Given the description of an element on the screen output the (x, y) to click on. 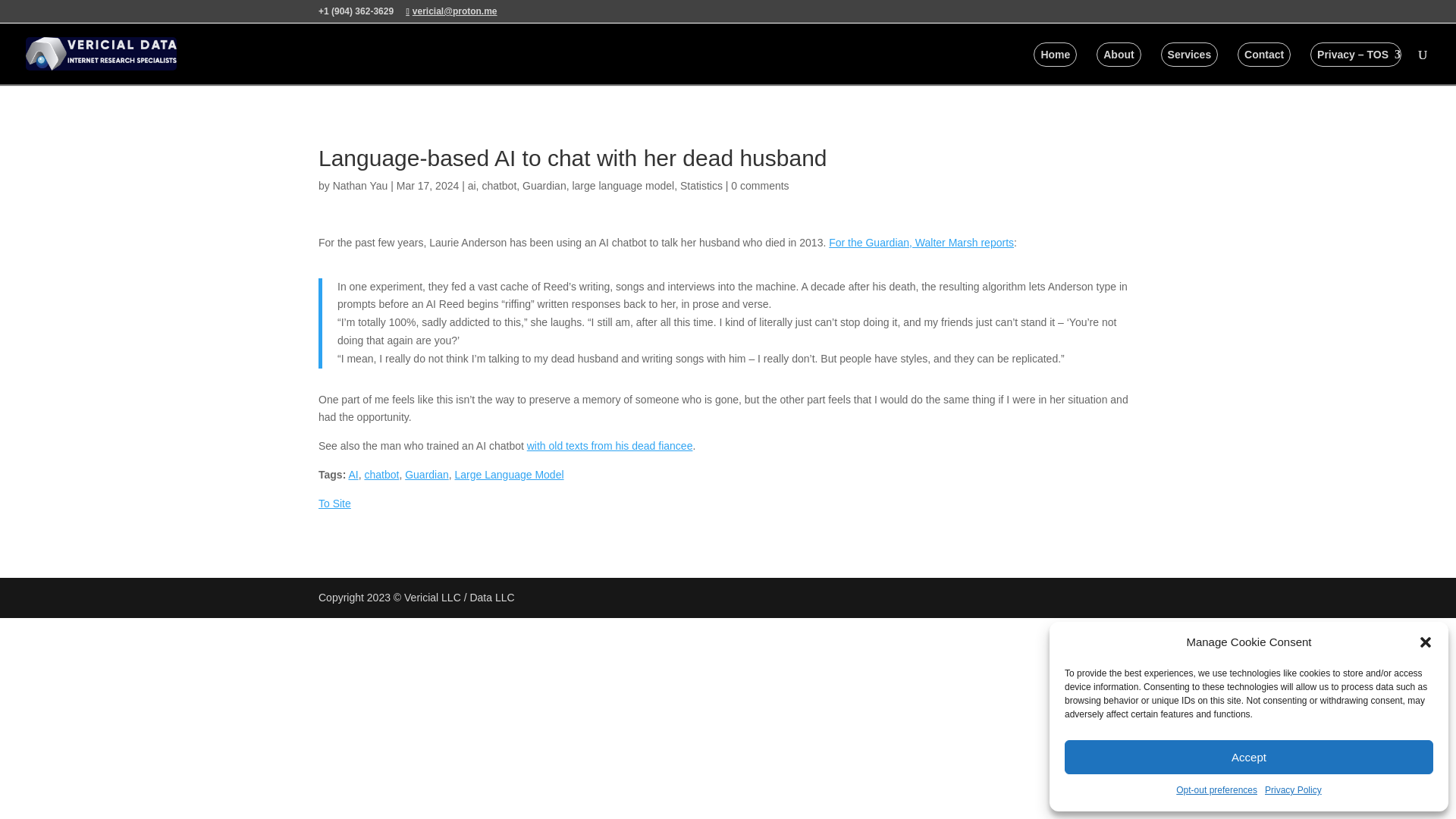
Home (1055, 54)
Services (1189, 54)
About (1118, 54)
Guardian (544, 185)
large language model (623, 185)
Contact (1263, 54)
Posts by Nathan Yau (360, 185)
For the Guardian, Walter Marsh reports (920, 242)
Statistics (700, 185)
with old texts from his dead fiancee (610, 445)
0 comments (759, 185)
chatbot (498, 185)
Nathan Yau (360, 185)
